Given the description of an element on the screen output the (x, y) to click on. 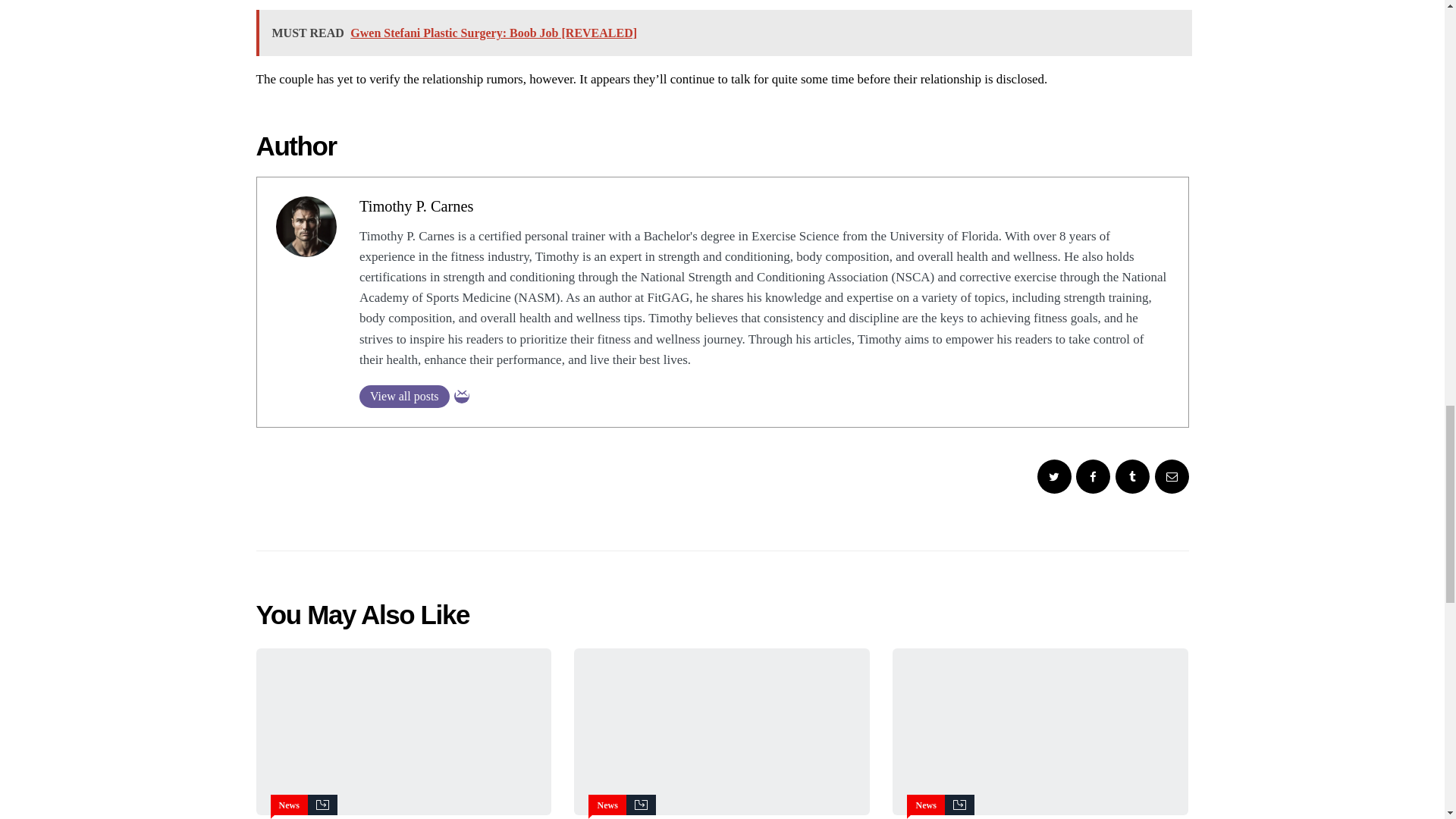
View all posts in News (289, 805)
View all posts in News (606, 805)
Miranda Cosgrove Plastic Surgery: Is It True? (1040, 731)
Timothy P. Carnes (416, 206)
View all posts in News (925, 805)
View all posts (404, 395)
